Given the description of an element on the screen output the (x, y) to click on. 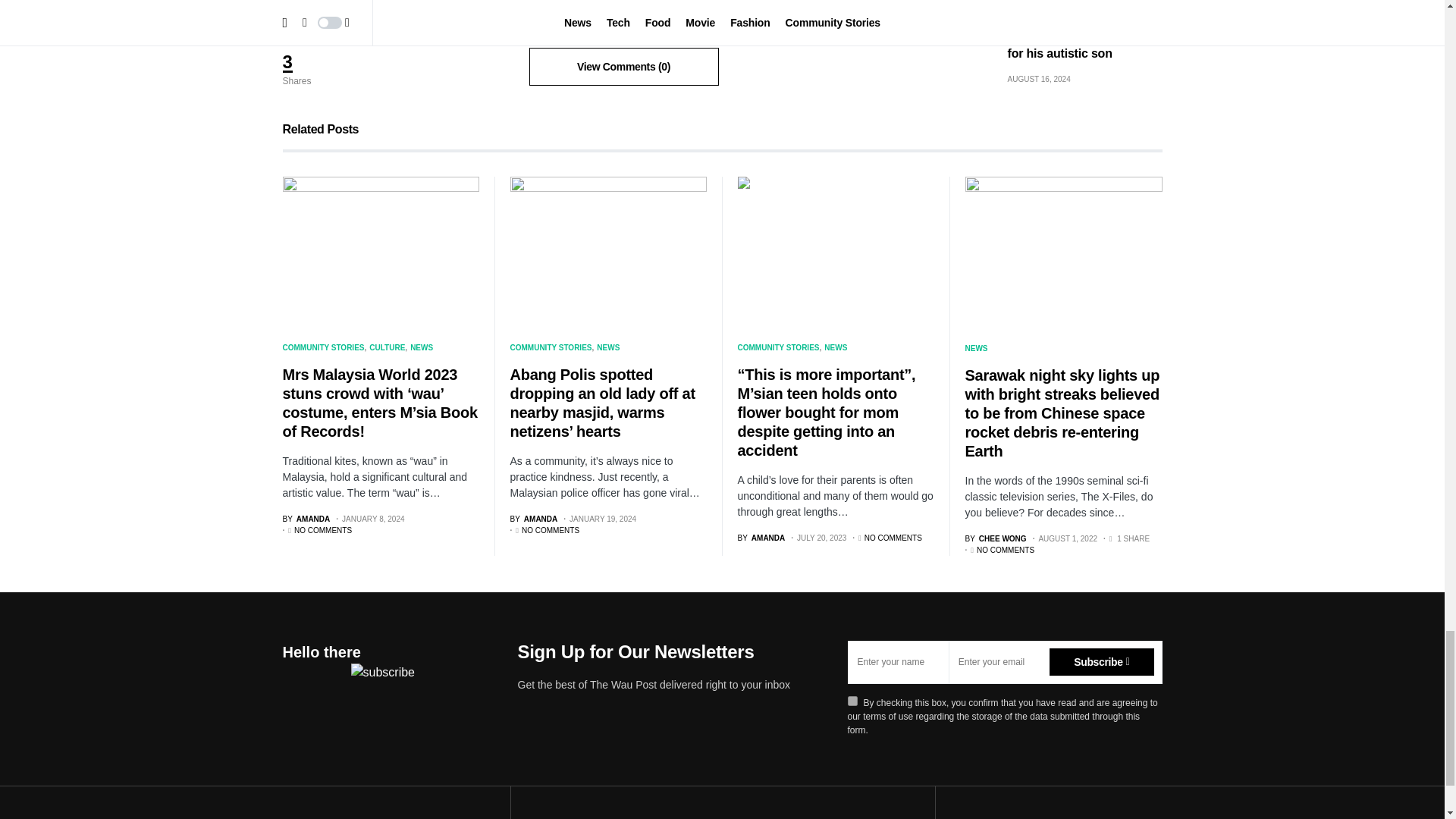
View all posts by Amanda (760, 537)
View all posts by Amanda (306, 518)
View all posts by Chee Wong (994, 538)
View all posts by Amanda (533, 518)
on (852, 700)
